Given the description of an element on the screen output the (x, y) to click on. 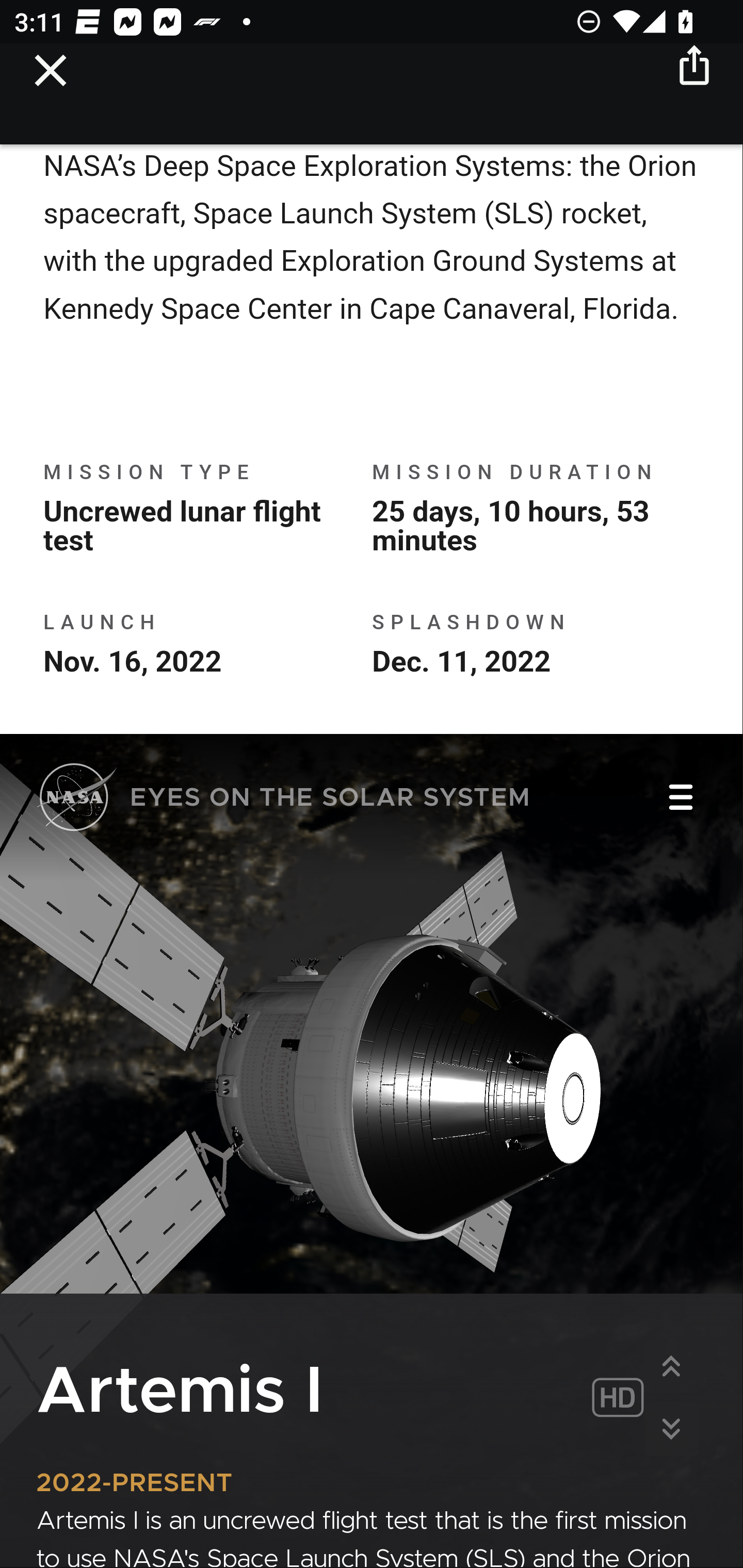
EYES ON THE SOLAR SYSTEM (283, 800)
Expand content panel to full screen (671, 1367)
Toggle high definition textures (617, 1400)
Collapse content panel (671, 1429)
